Given the description of an element on the screen output the (x, y) to click on. 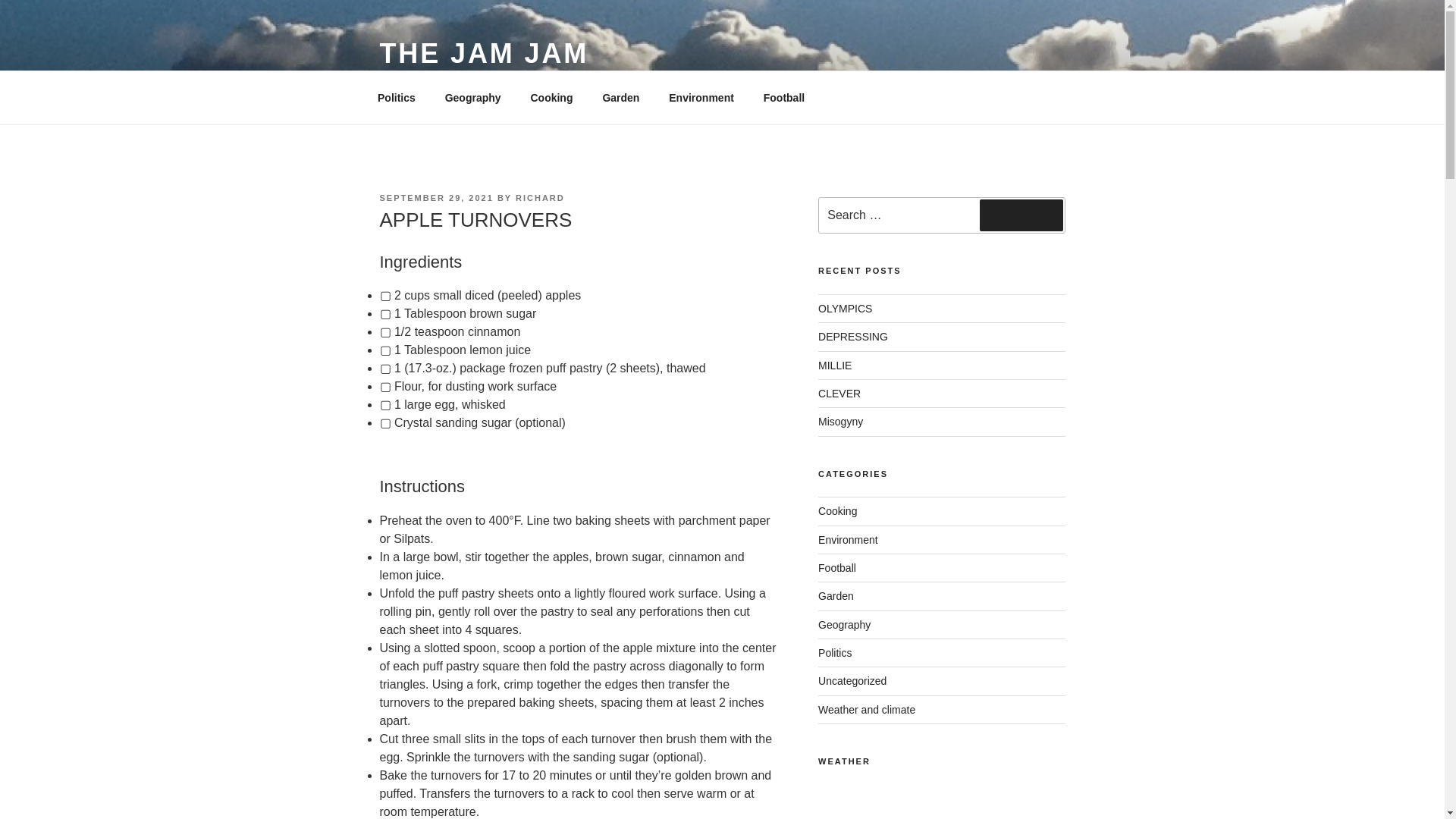
Cooking (551, 97)
Politics (396, 97)
OLYMPICS (845, 308)
Cooking (837, 510)
Football (782, 97)
Environment (847, 539)
THE JAM JAM (483, 52)
RICHARD (539, 197)
Geography (844, 624)
Weather and climate (866, 709)
MILLIE (834, 365)
Garden (835, 595)
Search (1020, 214)
Politics (834, 653)
Geography (471, 97)
